Given the description of an element on the screen output the (x, y) to click on. 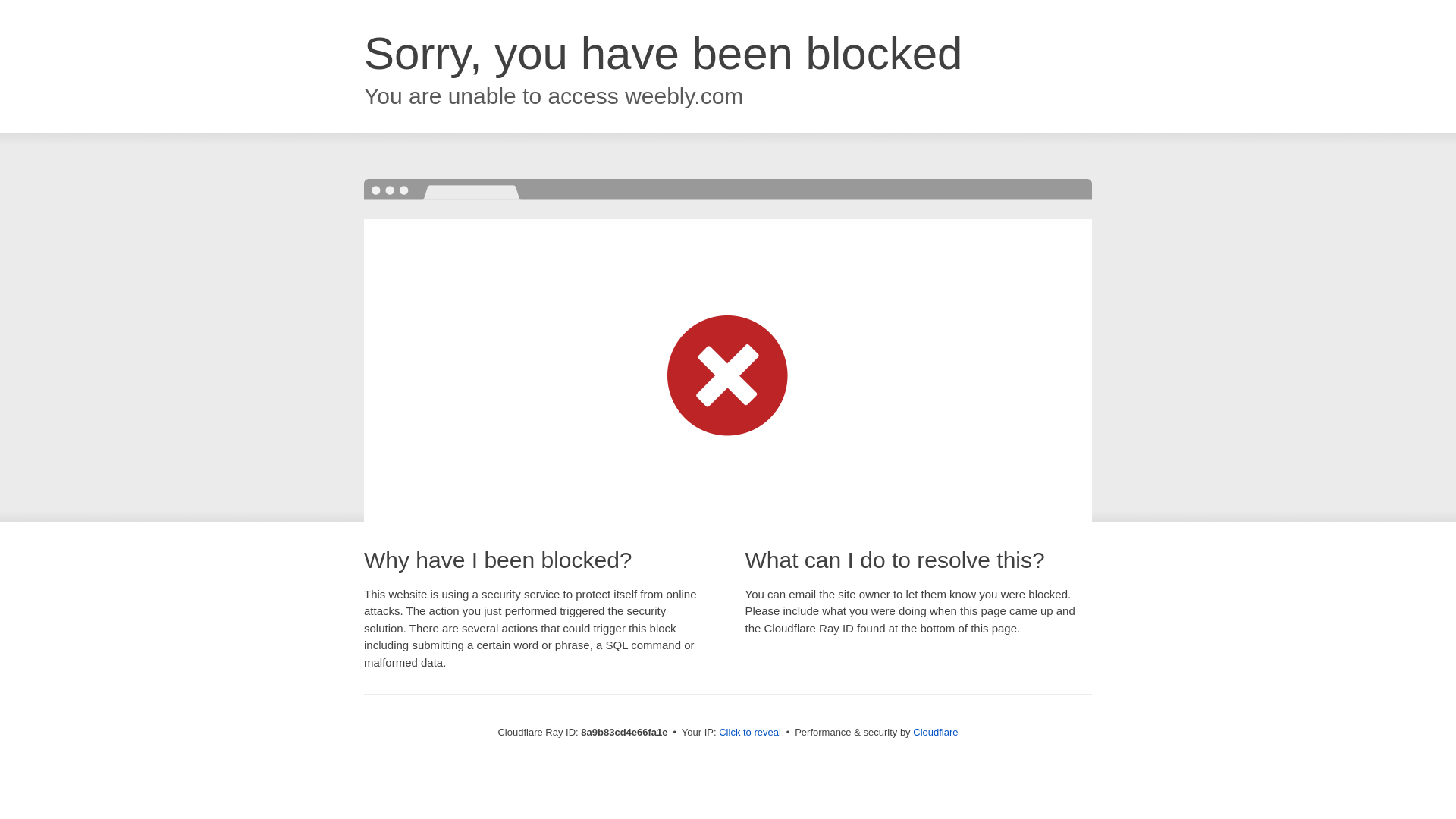
Click to reveal (749, 732)
Cloudflare (935, 731)
